Given the description of an element on the screen output the (x, y) to click on. 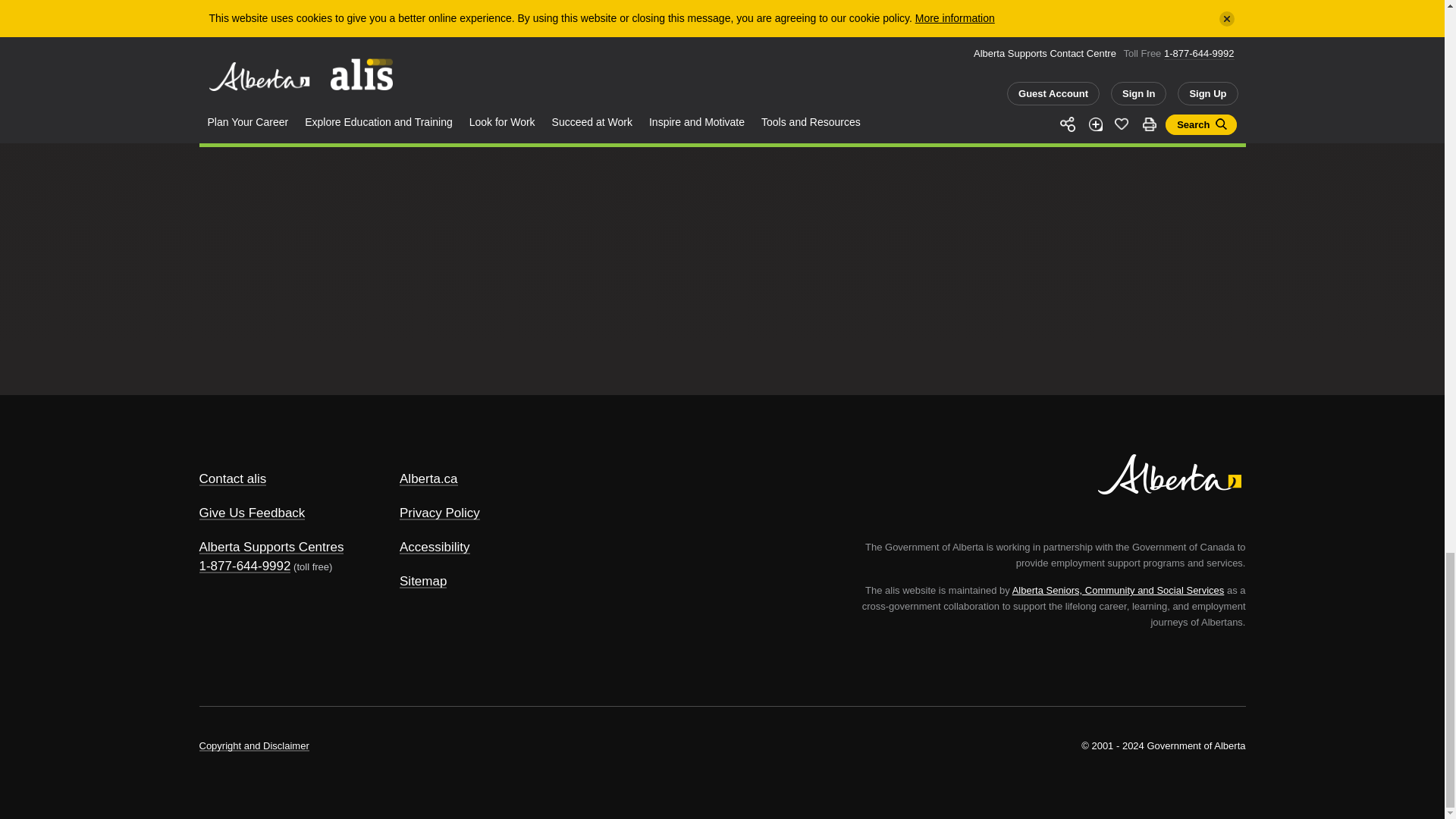
Alberta Seniors, Community and Social Services (1117, 590)
Privacy (439, 513)
Contact (232, 478)
Sitemap (422, 581)
Alberta Supports Centres (270, 546)
Accessibility (434, 546)
